Given the description of an element on the screen output the (x, y) to click on. 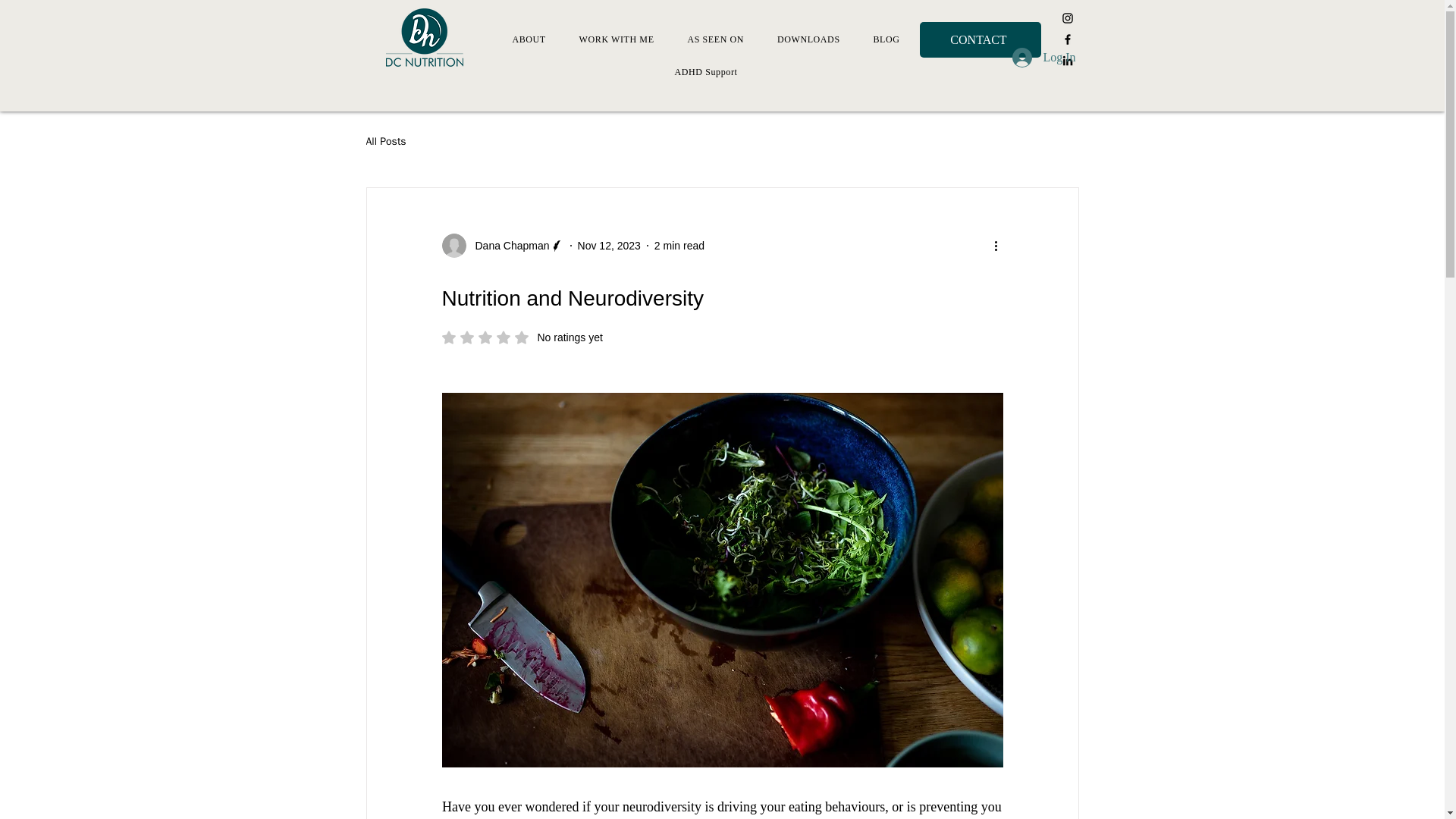
AS SEEN ON (714, 39)
CONTACT (979, 39)
All Posts (385, 141)
BLOG (887, 39)
ABOUT (529, 39)
Dana Chapman (521, 336)
WORK WITH ME (502, 245)
ADHD Support (617, 39)
Dana Chapman (706, 71)
